Given the description of an element on the screen output the (x, y) to click on. 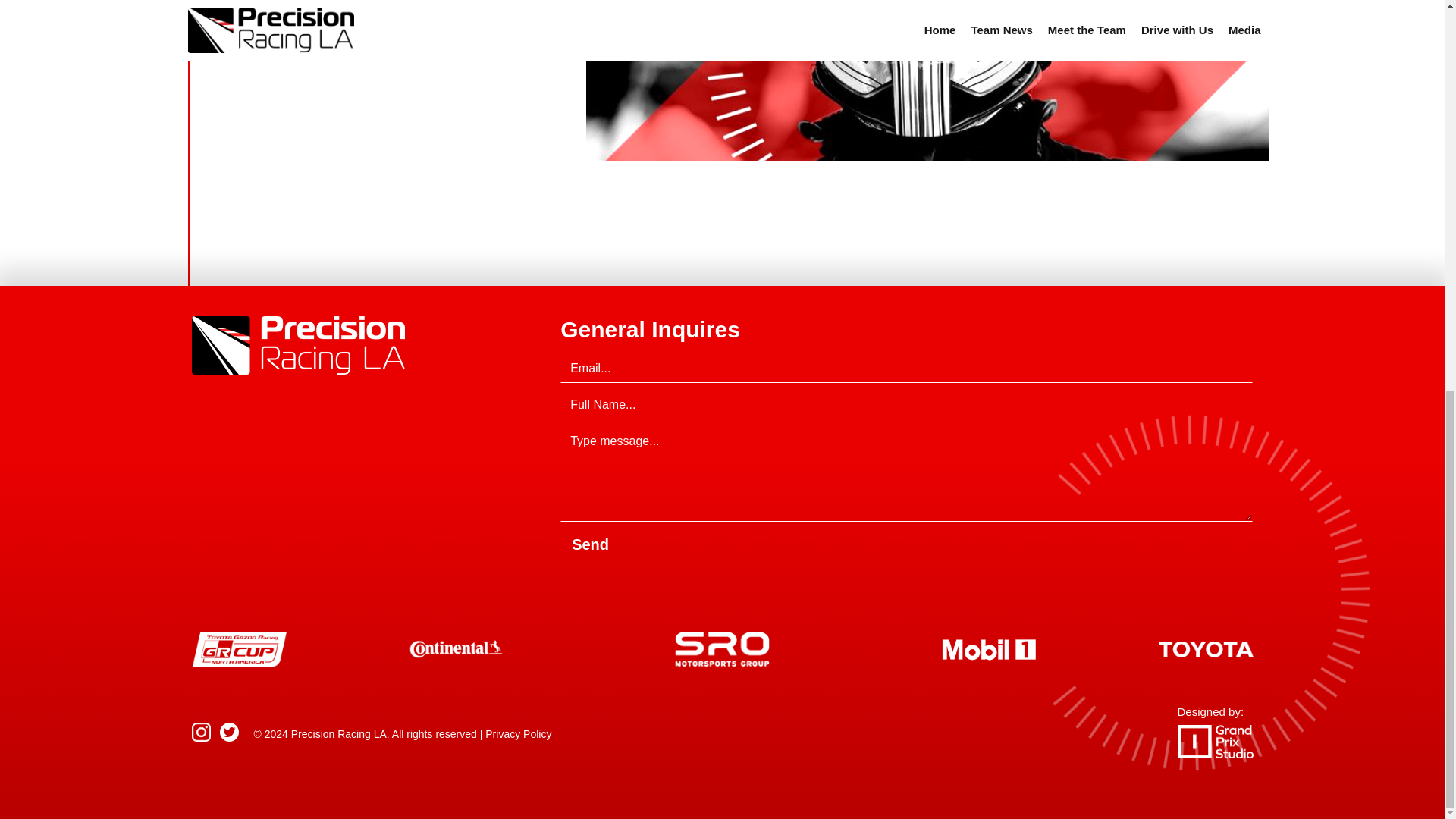
Designed by: (1214, 731)
Send (590, 544)
Send (590, 544)
